Given the description of an element on the screen output the (x, y) to click on. 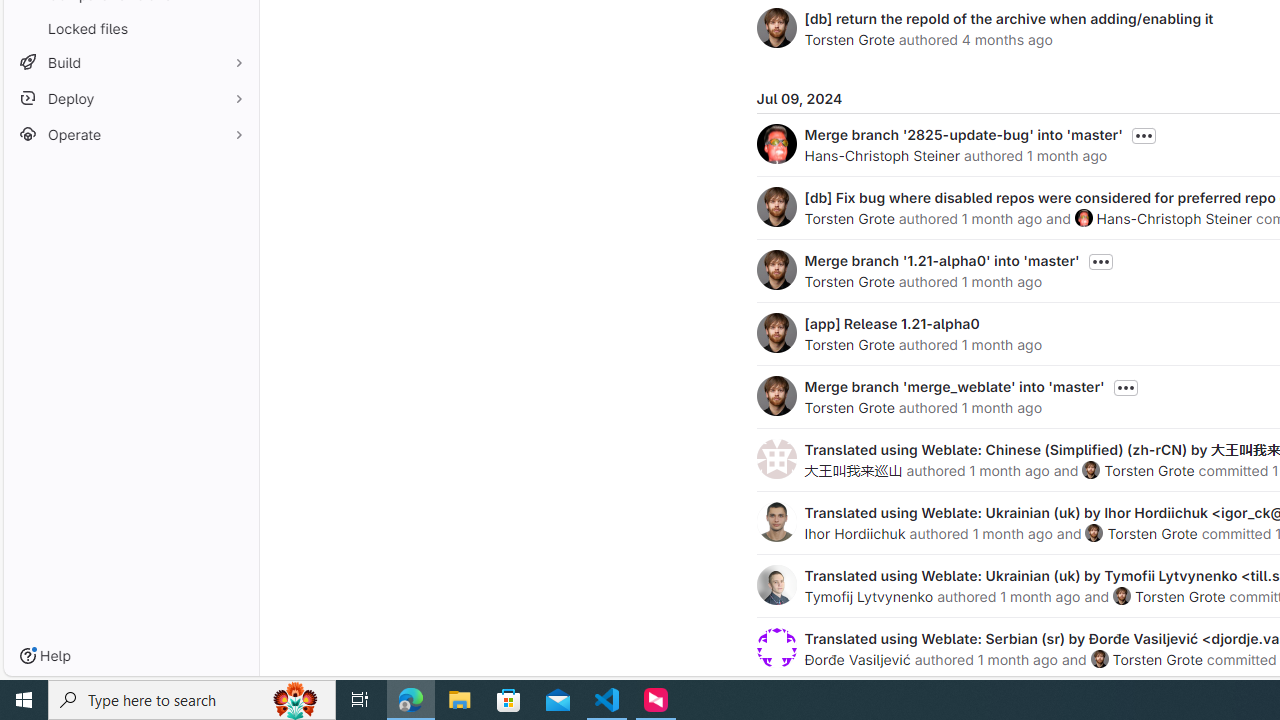
Deploy (130, 98)
Deploy (130, 98)
Operate (130, 134)
Torsten Grote's avatar (1099, 659)
